Given the description of an element on the screen output the (x, y) to click on. 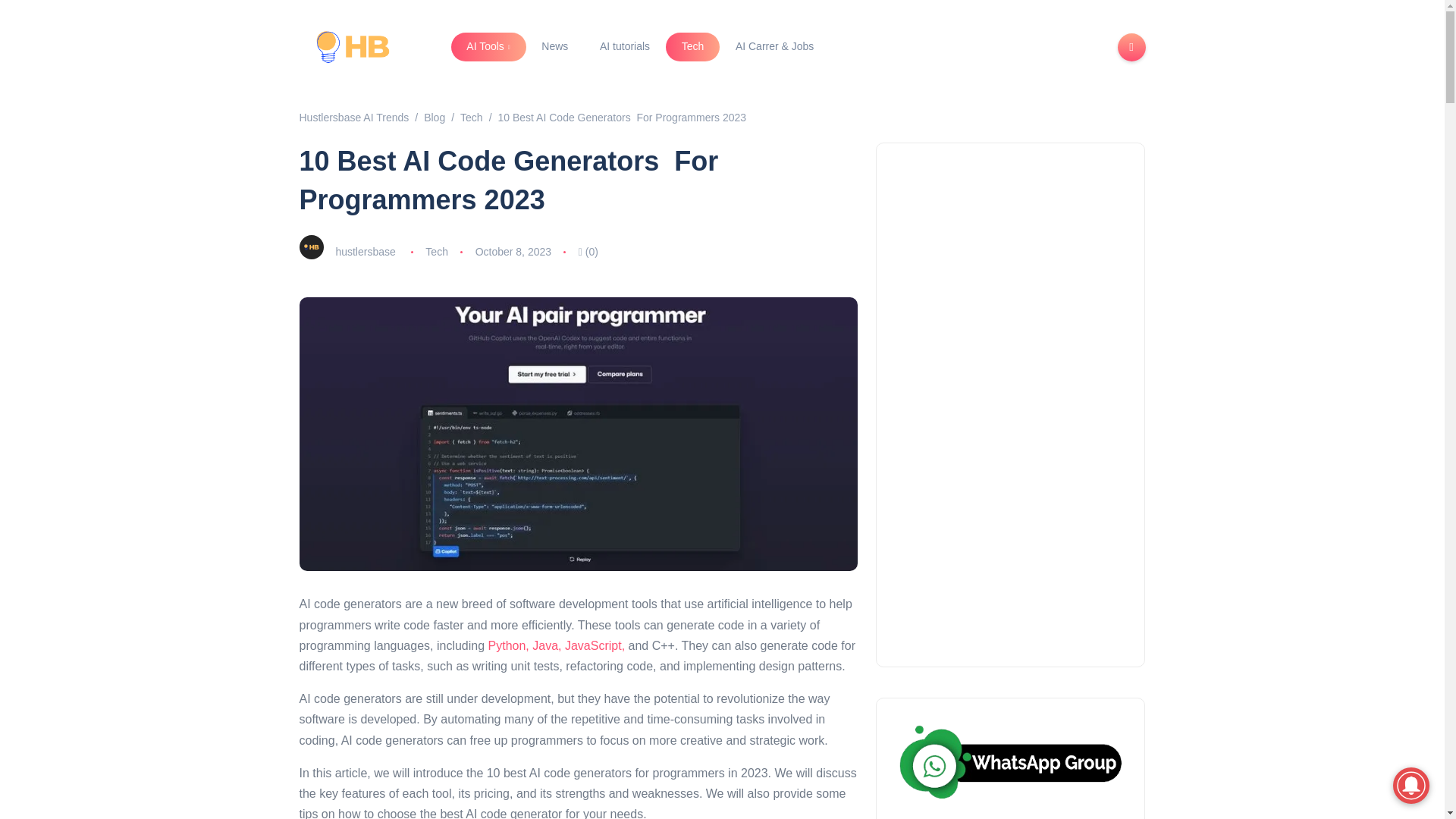
AI Tools (487, 46)
Go to the Tech Category archives. (471, 117)
News (555, 46)
Tech (436, 251)
Python, Java, JavaScript, (556, 645)
Go to Blog. (434, 117)
Posts by hustlersbase (364, 251)
hustlersbase (364, 251)
Hustlersbase AI Trends (353, 117)
Blog (434, 117)
Go to Hustlersbase AI Trends. (353, 117)
Tech (692, 46)
AI tutorials (624, 46)
Tech (471, 117)
